Given the description of an element on the screen output the (x, y) to click on. 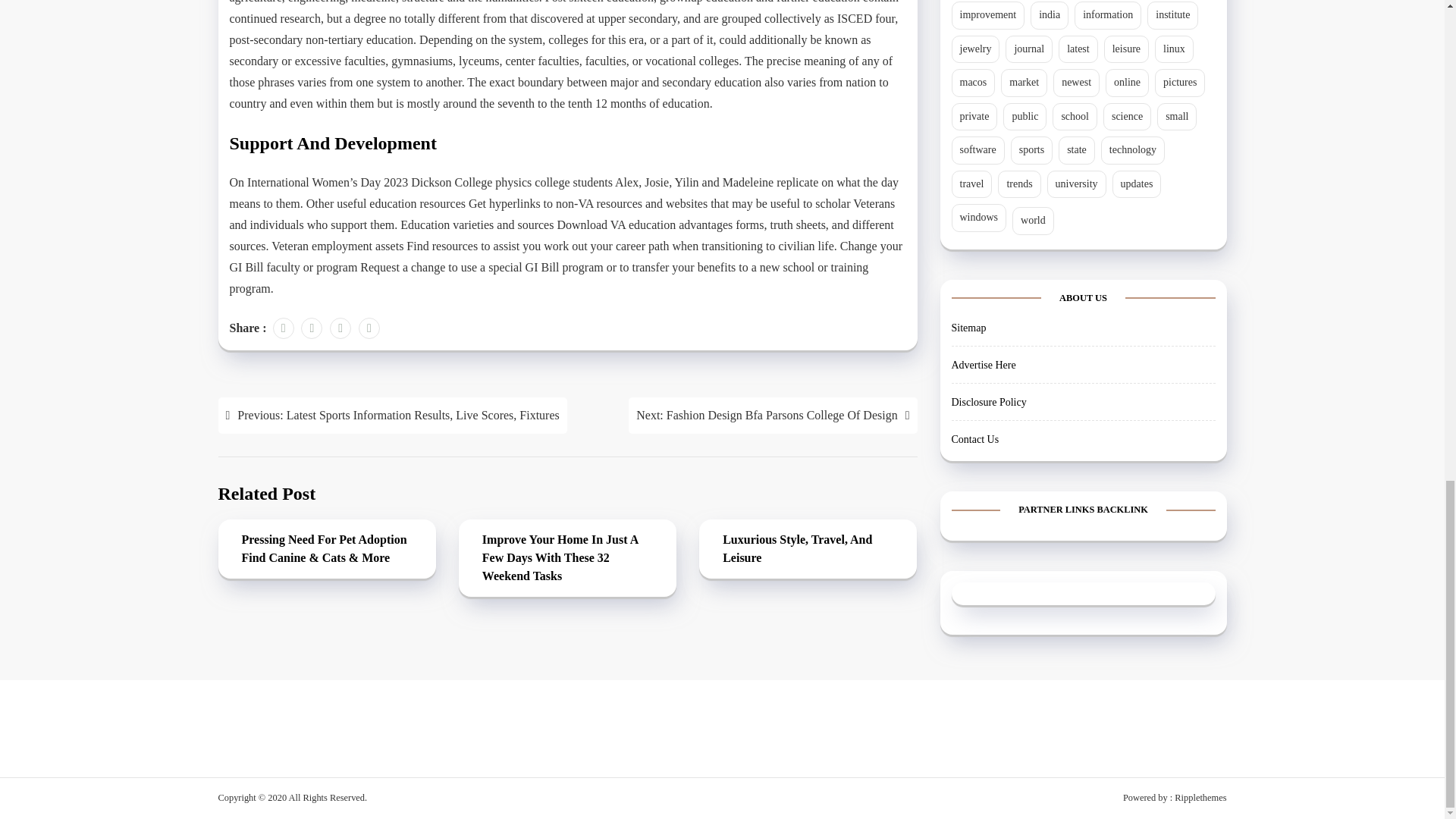
Next: Fashion Design Bfa Parsons College Of Design (772, 415)
Luxurious Style, Travel, And Leisure (807, 550)
